Given the description of an element on the screen output the (x, y) to click on. 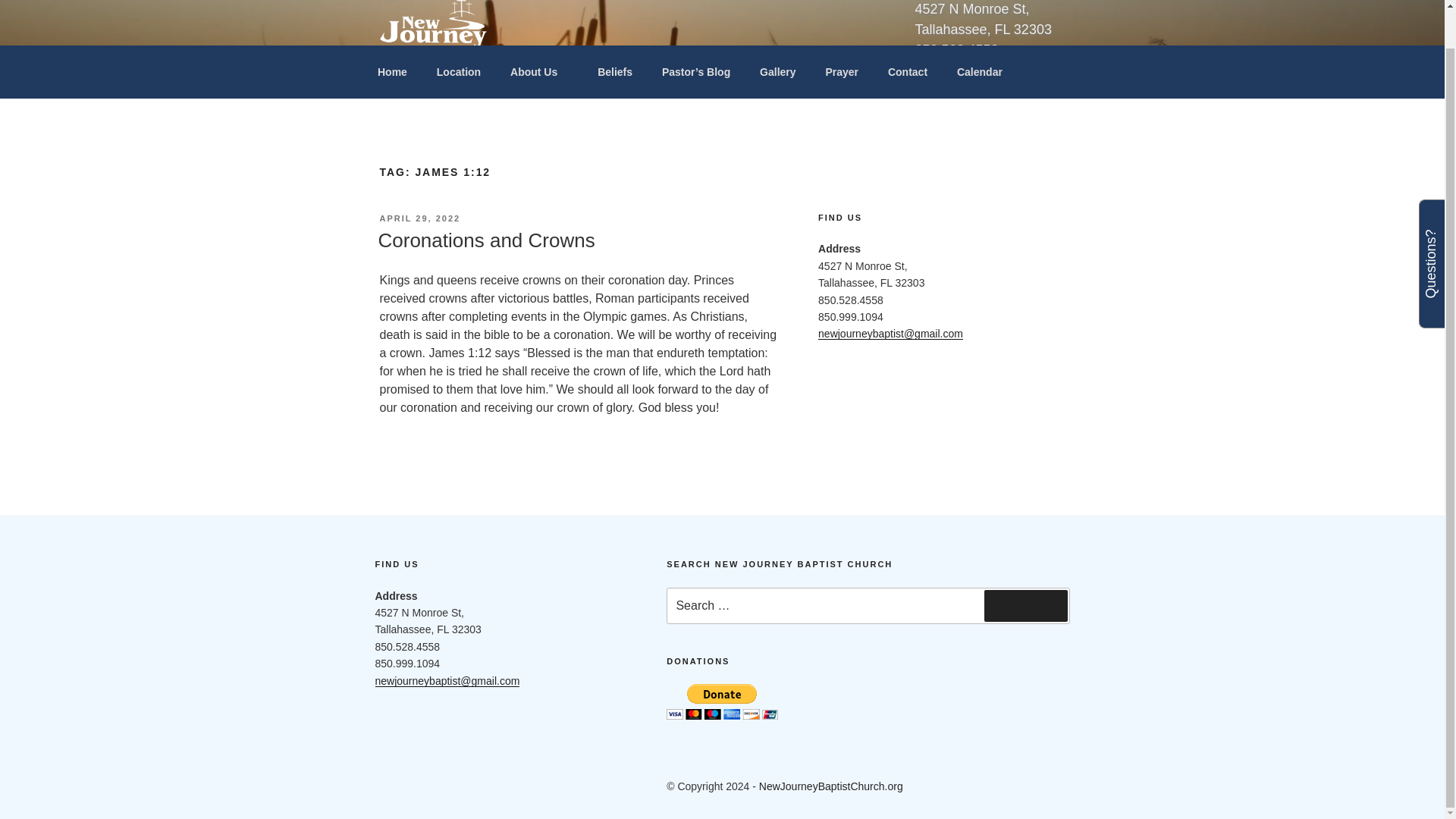
Search (1025, 605)
Coronations and Crowns (485, 240)
Gallery (777, 72)
Beliefs (615, 72)
Contact (907, 72)
APRIL 29, 2022 (419, 217)
Email (474, 787)
Home (392, 72)
Calendar (978, 72)
About Us (538, 72)
New Journey Baptist Church (577, 78)
Facebook (406, 787)
Prayer (842, 72)
PayPal - The safer, easier way to pay online! (721, 701)
NewJourneyBaptistChurch.org (830, 786)
